Given the description of an element on the screen output the (x, y) to click on. 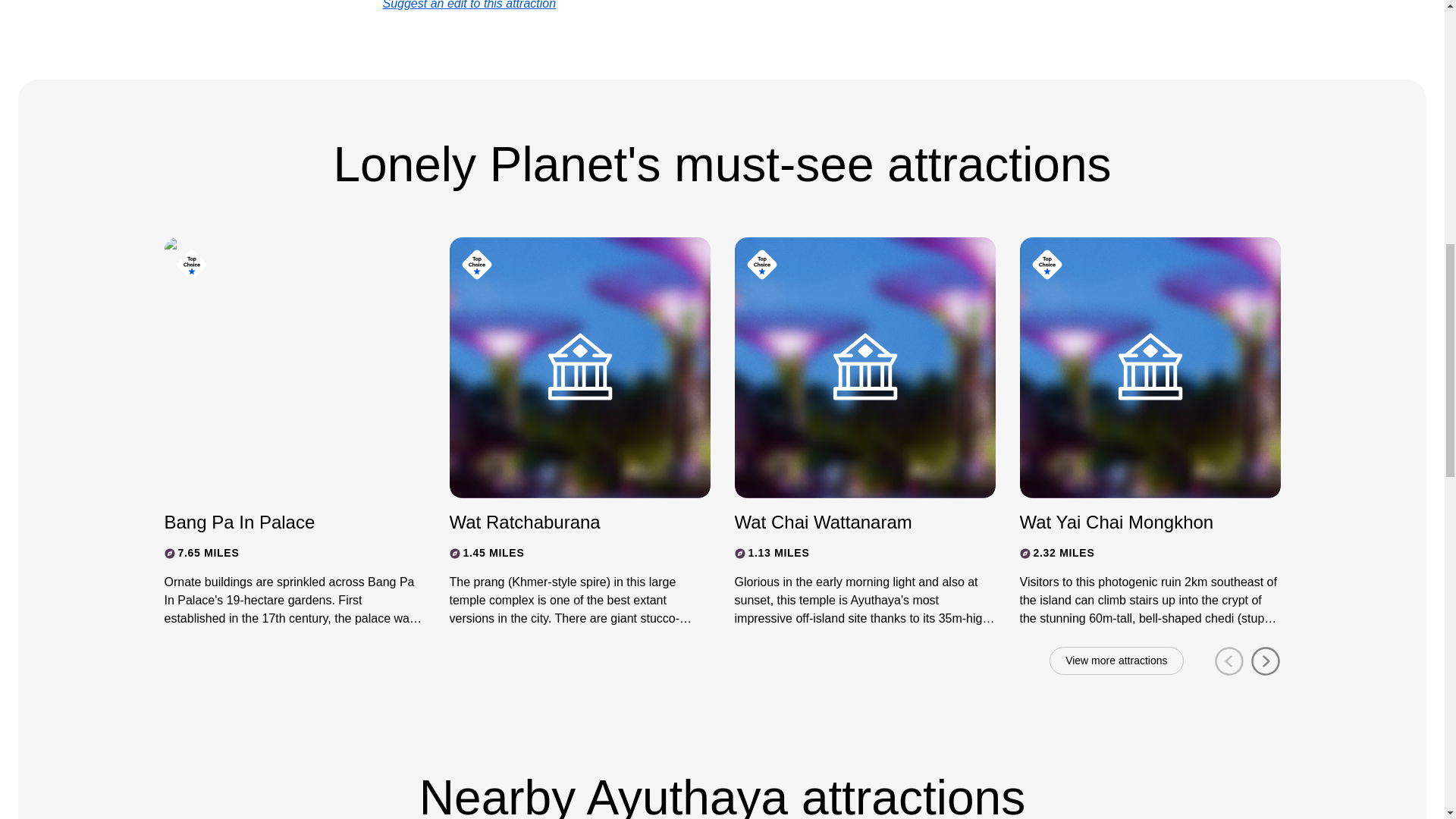
Wat Ratchaburana (566, 521)
Bang Pa In Palace (280, 521)
Suggest an edit to this attraction (468, 4)
Wat Yai Chai Mongkhon (1136, 521)
Wat Chai Wattanaram (851, 521)
View more attractions (1115, 661)
